Given the description of an element on the screen output the (x, y) to click on. 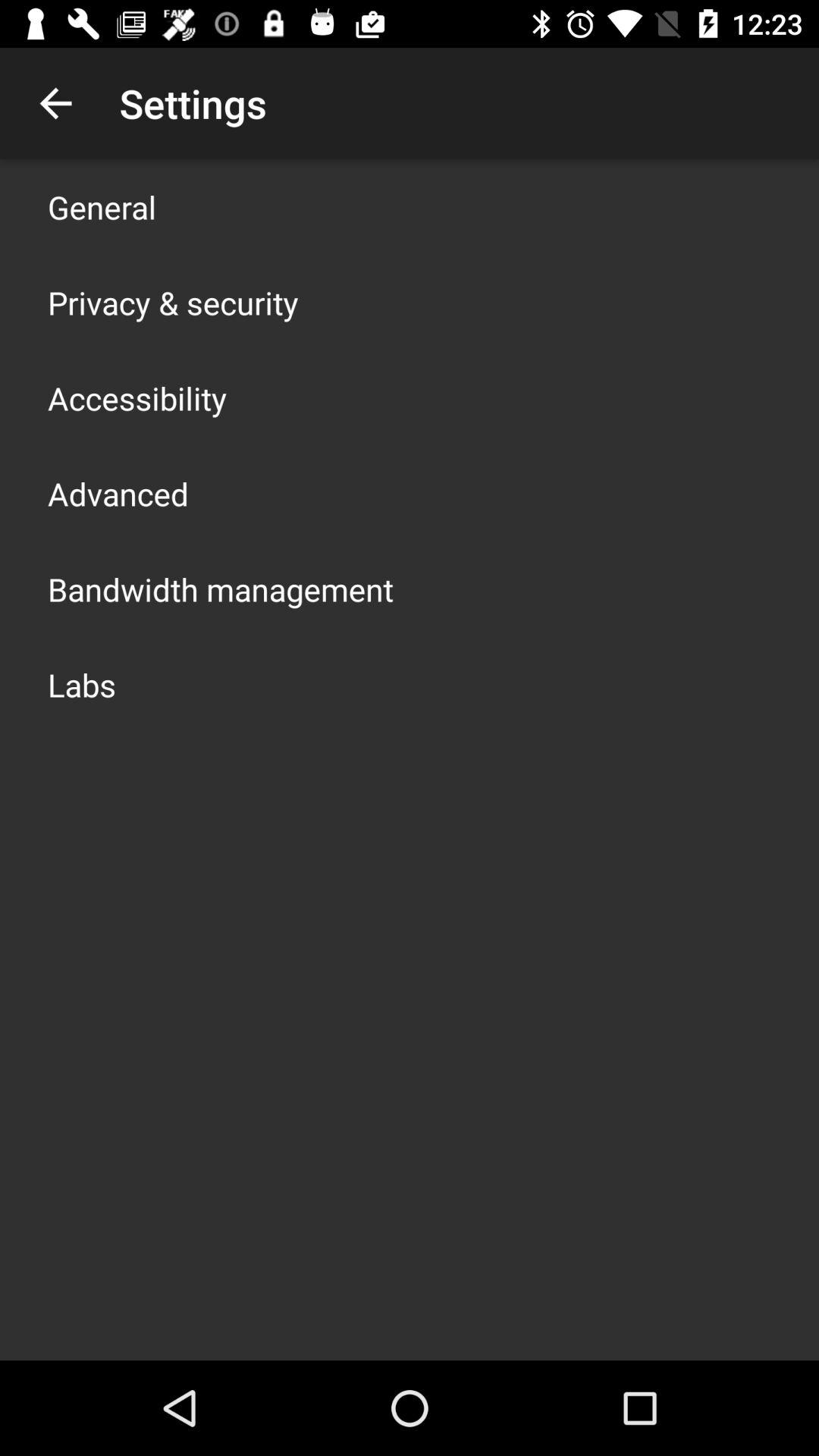
press the icon above labs app (220, 588)
